Given the description of an element on the screen output the (x, y) to click on. 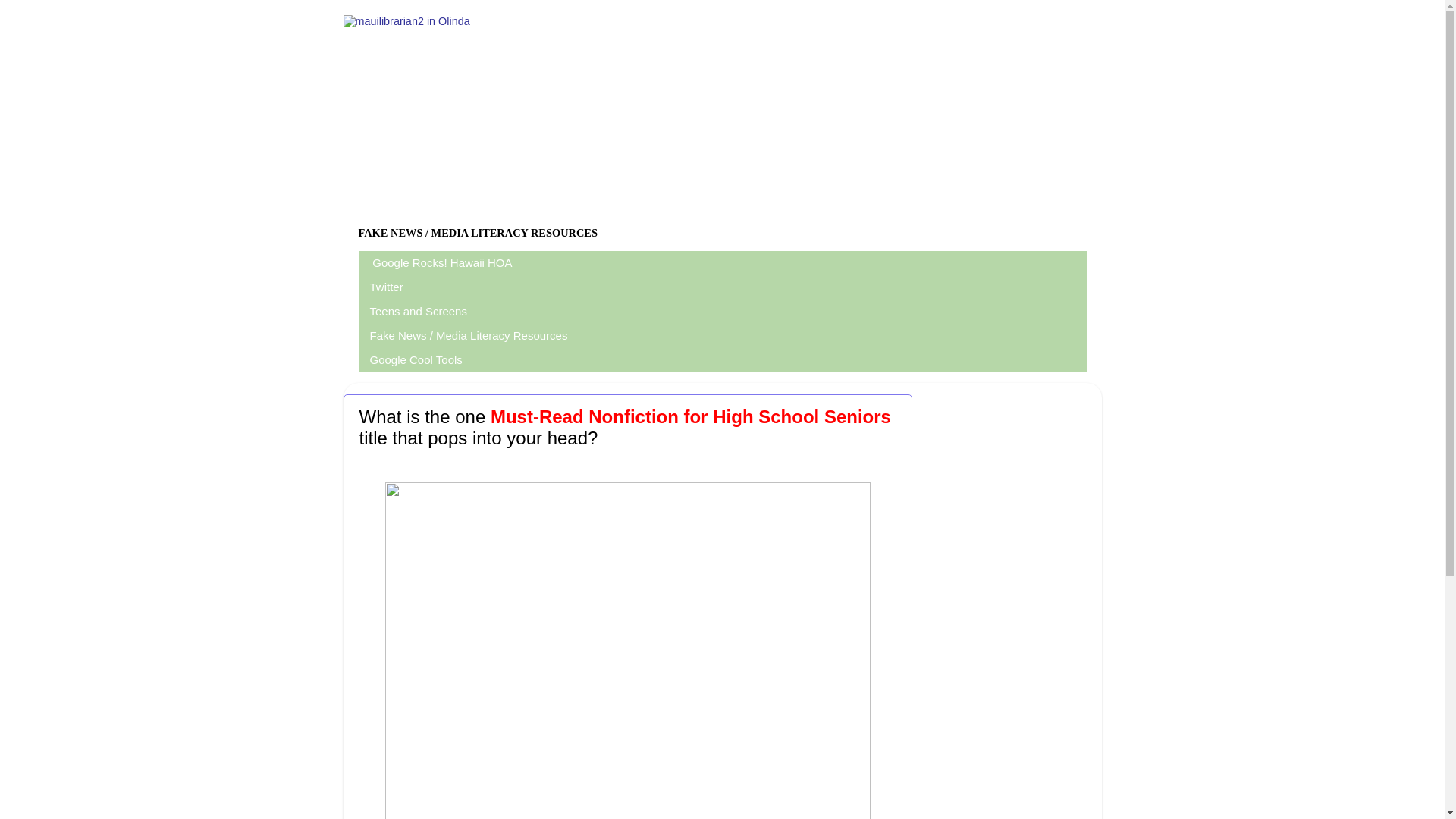
Google Rocks! Hawaii HOA (441, 262)
Teens and Screens (418, 311)
Google Cool Tools (416, 360)
Twitter (386, 287)
